Given the description of an element on the screen output the (x, y) to click on. 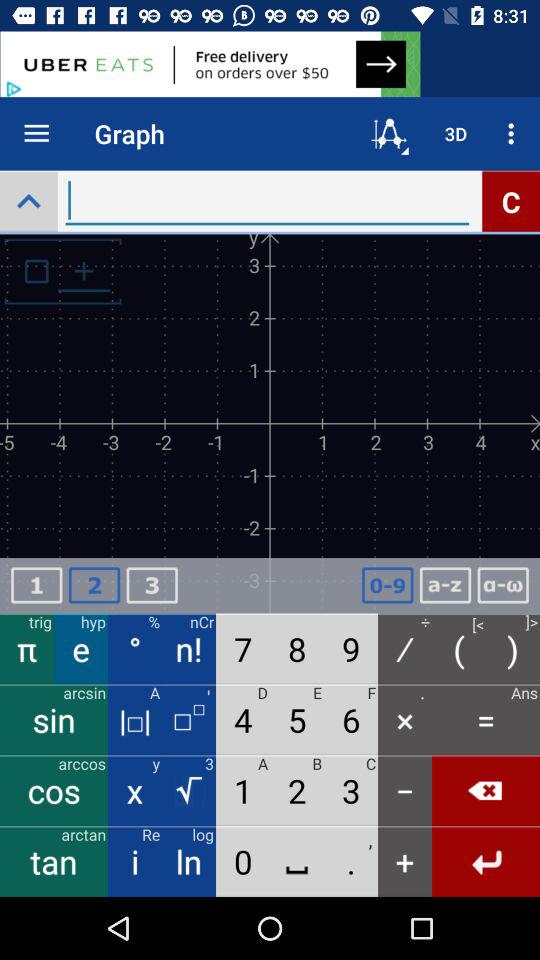
go to formula (503, 585)
